Given the description of an element on the screen output the (x, y) to click on. 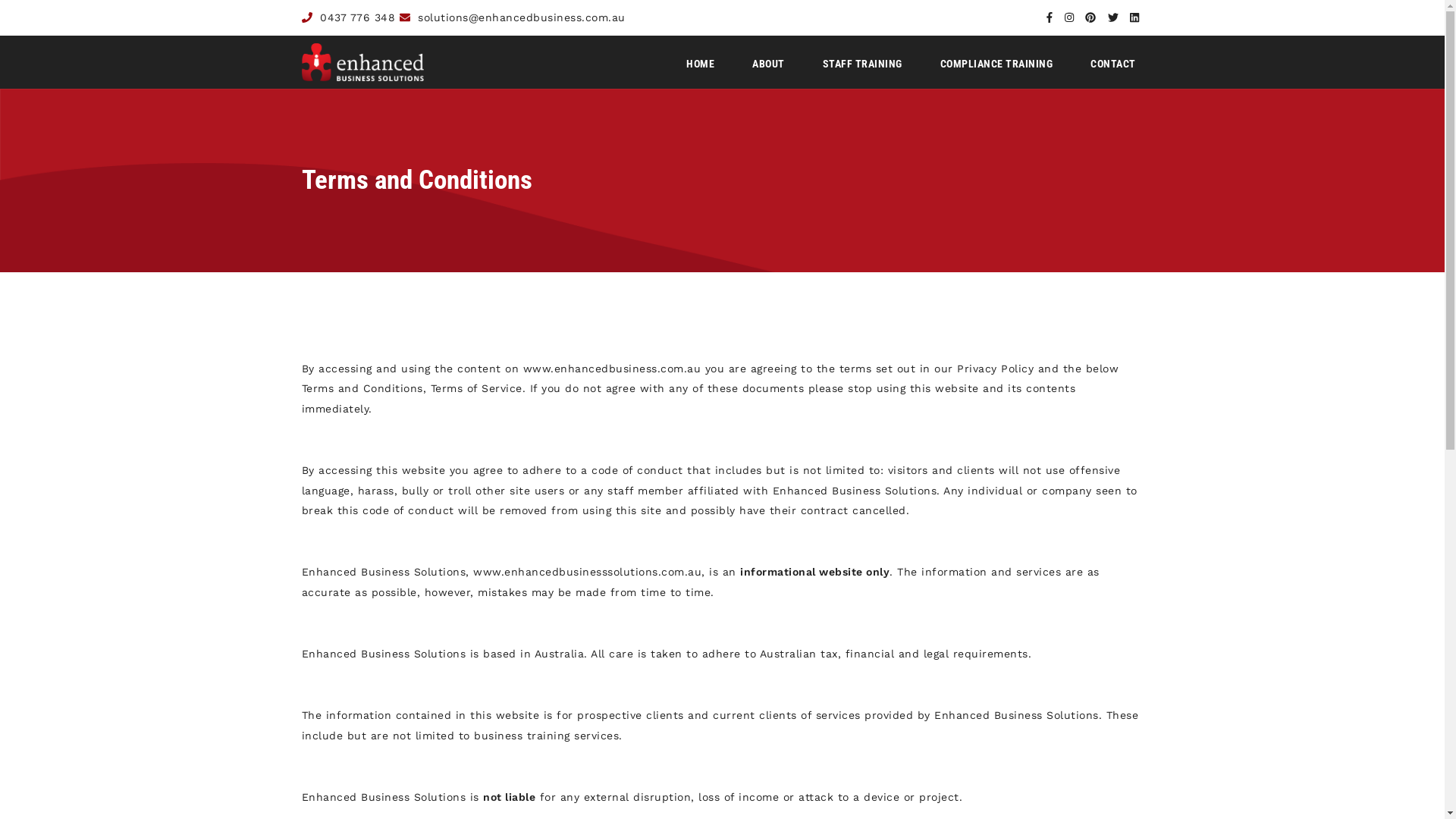
Privacy Policy Element type: text (995, 368)
CONTACT Element type: text (1112, 63)
STAFF TRAINING Element type: text (862, 63)
HOME Element type: text (700, 63)
COMPLIANCE TRAINING Element type: text (995, 63)
ABOUT Element type: text (768, 63)
0437 776 348 Element type: text (357, 17)
solutions@enhancedbusiness.com.au Element type: text (521, 17)
